Given the description of an element on the screen output the (x, y) to click on. 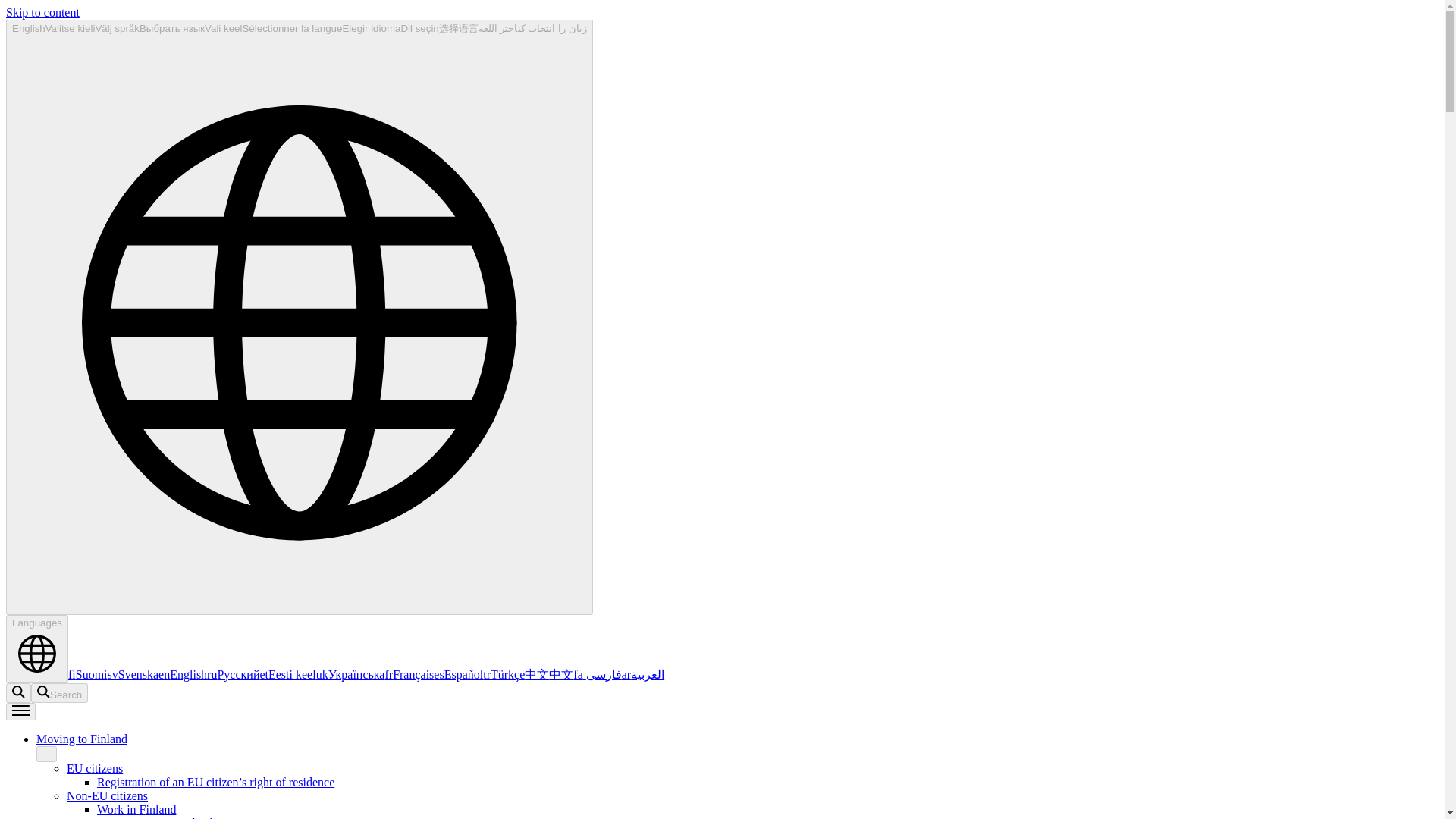
Svenska (132, 674)
Search (58, 692)
enEnglish (182, 674)
Main menu (19, 711)
EU citizens (94, 768)
Skip to content (42, 11)
Work in Finland (136, 809)
Non-EU citizens (107, 795)
Eesti keel (287, 674)
mainMenu.close (46, 754)
Search (17, 692)
Languages (36, 649)
etEesti keel (287, 674)
Entrepreneur in Finland (154, 817)
